Given the description of an element on the screen output the (x, y) to click on. 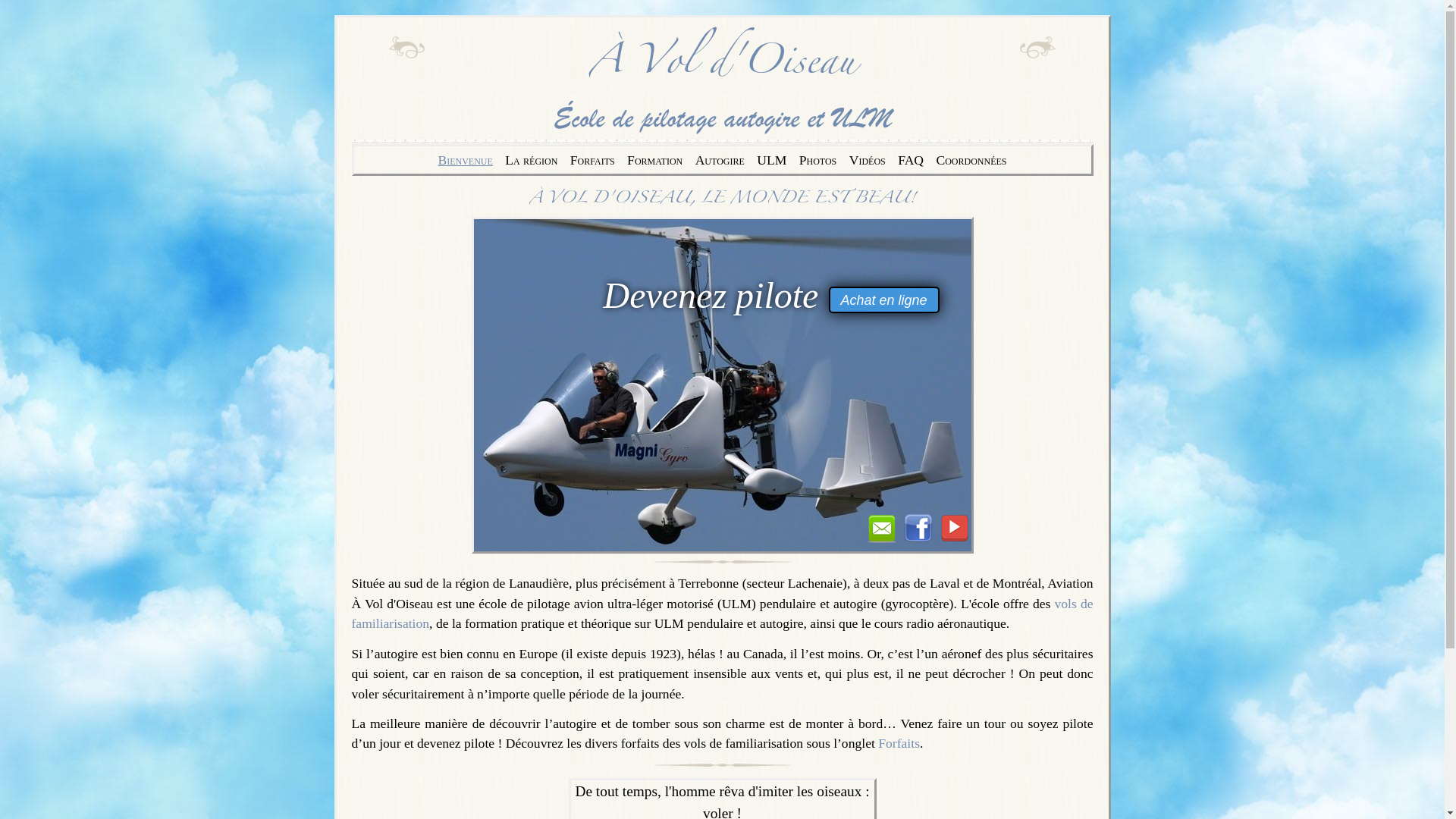
Photos Element type: text (817, 159)
Forfaits Element type: text (898, 742)
Forfaits Element type: text (592, 159)
FAQ Element type: text (910, 159)
vols de familiarisation Element type: text (722, 613)
ULM Element type: text (771, 159)
Bienvenue Element type: text (464, 159)
Autogire Element type: text (719, 159)
Formation Element type: text (654, 159)
